Given the description of an element on the screen output the (x, y) to click on. 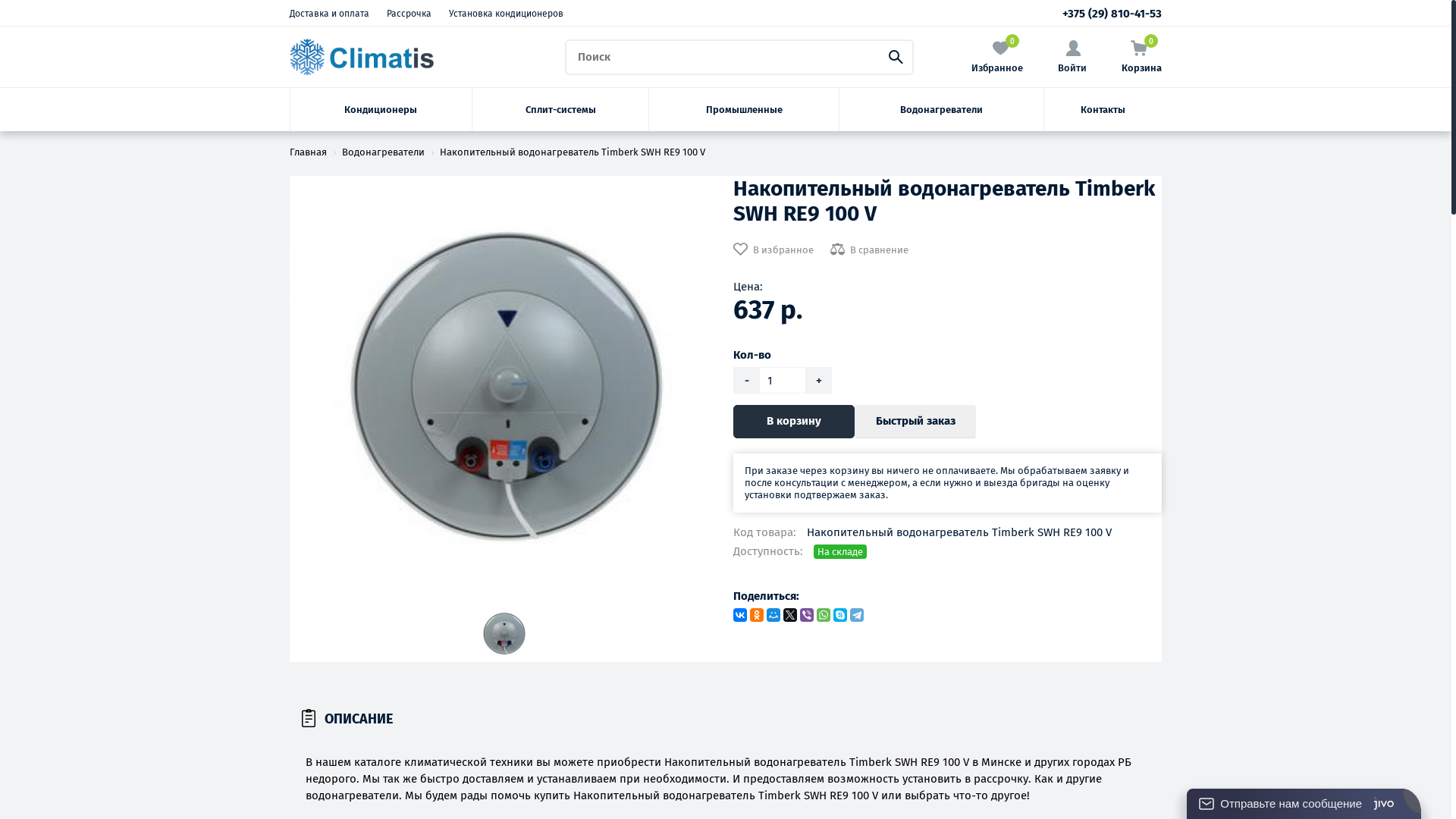
Skype Element type: hover (840, 614)
- Element type: text (746, 380)
Twitter Element type: hover (790, 614)
+ Element type: text (818, 380)
+375 (29) 810-41-53 Element type: text (1111, 13)
Telegram Element type: hover (856, 614)
Viber Element type: hover (806, 614)
WhatsApp Element type: hover (823, 614)
